Given the description of an element on the screen output the (x, y) to click on. 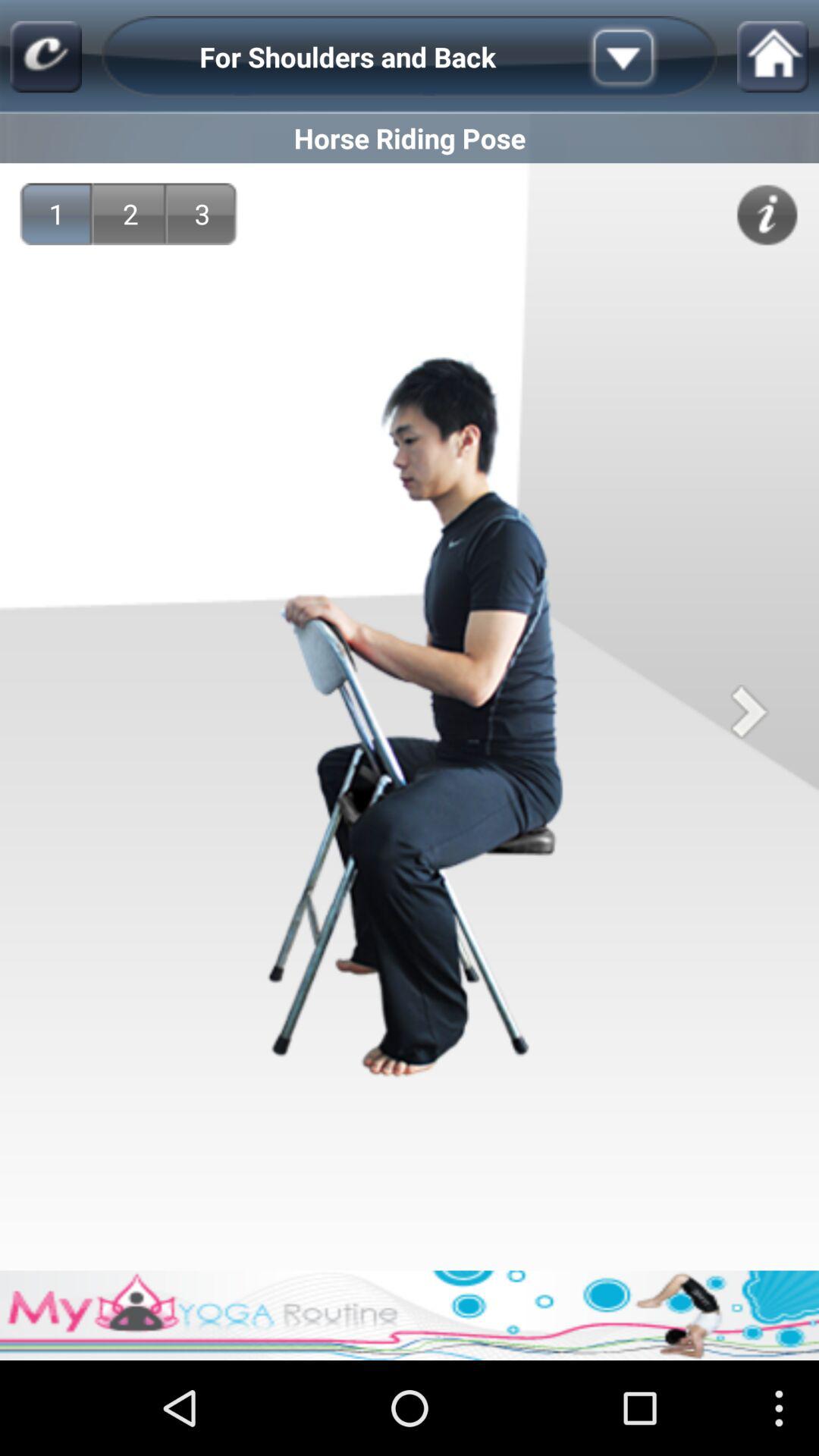
go to next image (749, 711)
